Given the description of an element on the screen output the (x, y) to click on. 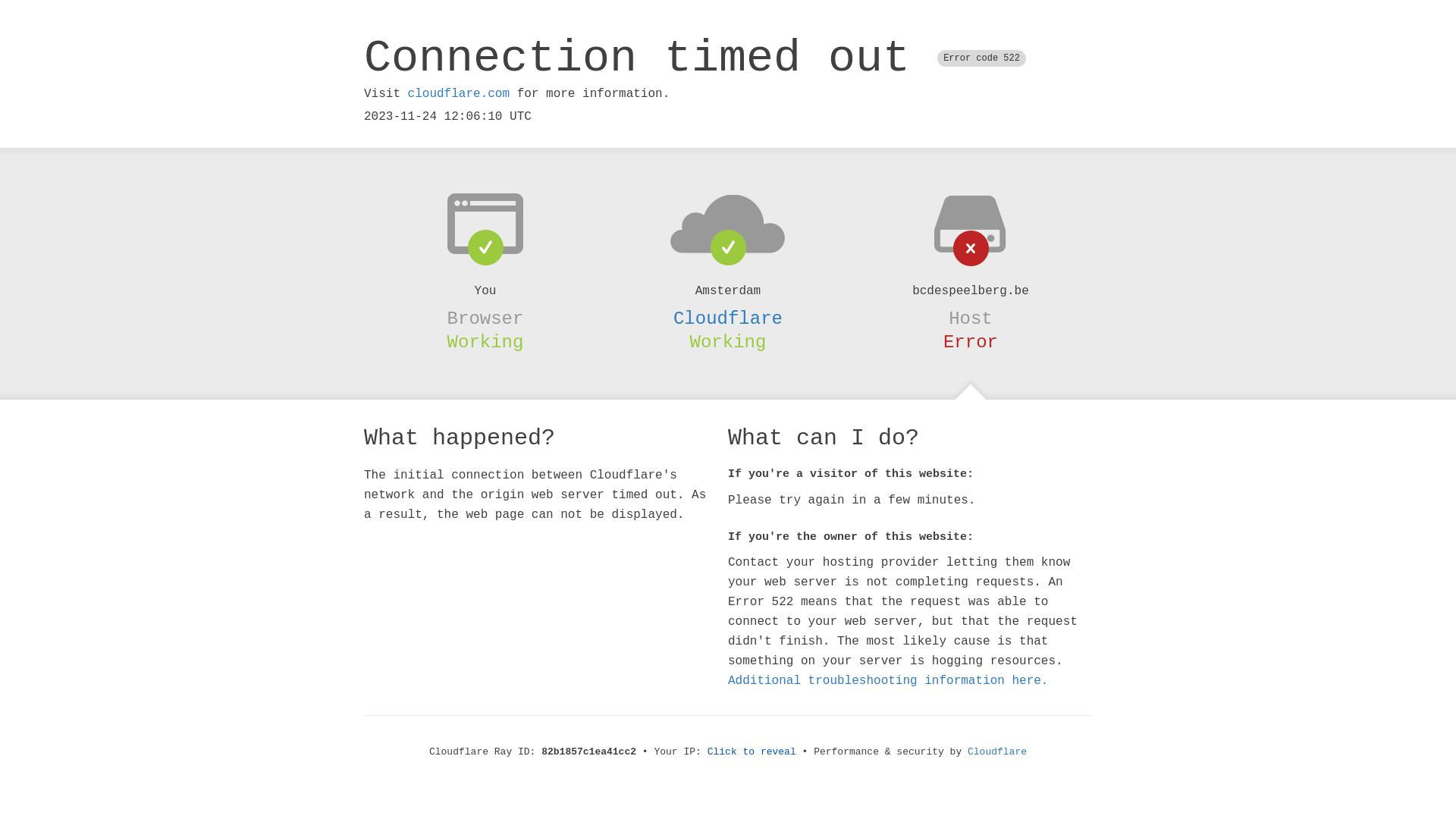
Cloudflare Element type: text (727, 318)
cloudflare.com Element type: text (458, 93)
Click to reveal Element type: text (751, 751)
Cloudflare Element type: text (996, 751)
Additional troubleshooting information here. Element type: text (888, 680)
